Given the description of an element on the screen output the (x, y) to click on. 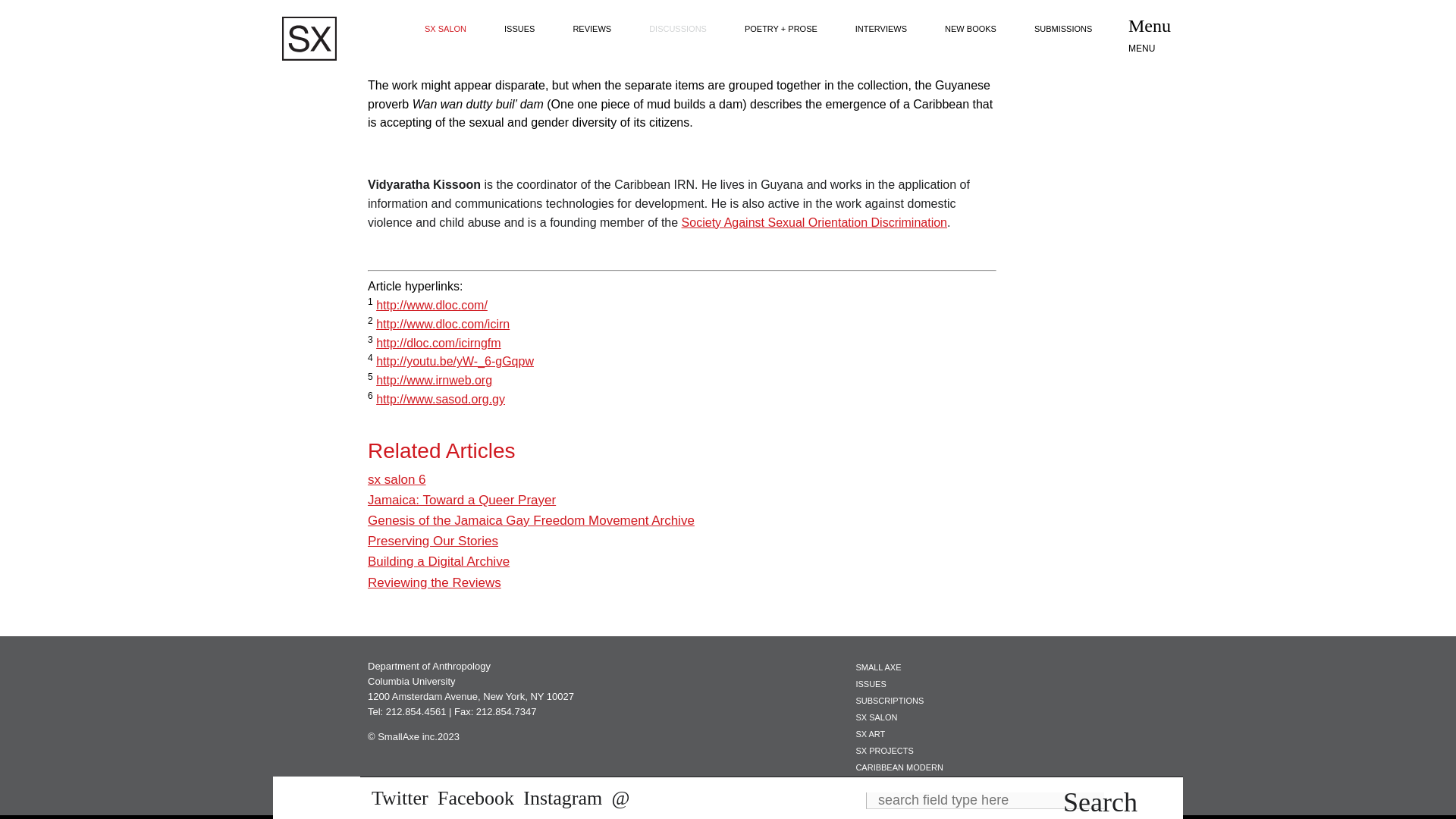
Jamaica: Toward a Queer Prayer (462, 499)
Preserving Our Stories (432, 540)
sx salon 6 (397, 479)
Society Against Sexual Orientation Discrimination (814, 222)
Reviewing the Reviews (434, 582)
Building a Digital Archive (438, 561)
Genesis of the Jamaica Gay Freedom Movement Archive (531, 520)
